Given the description of an element on the screen output the (x, y) to click on. 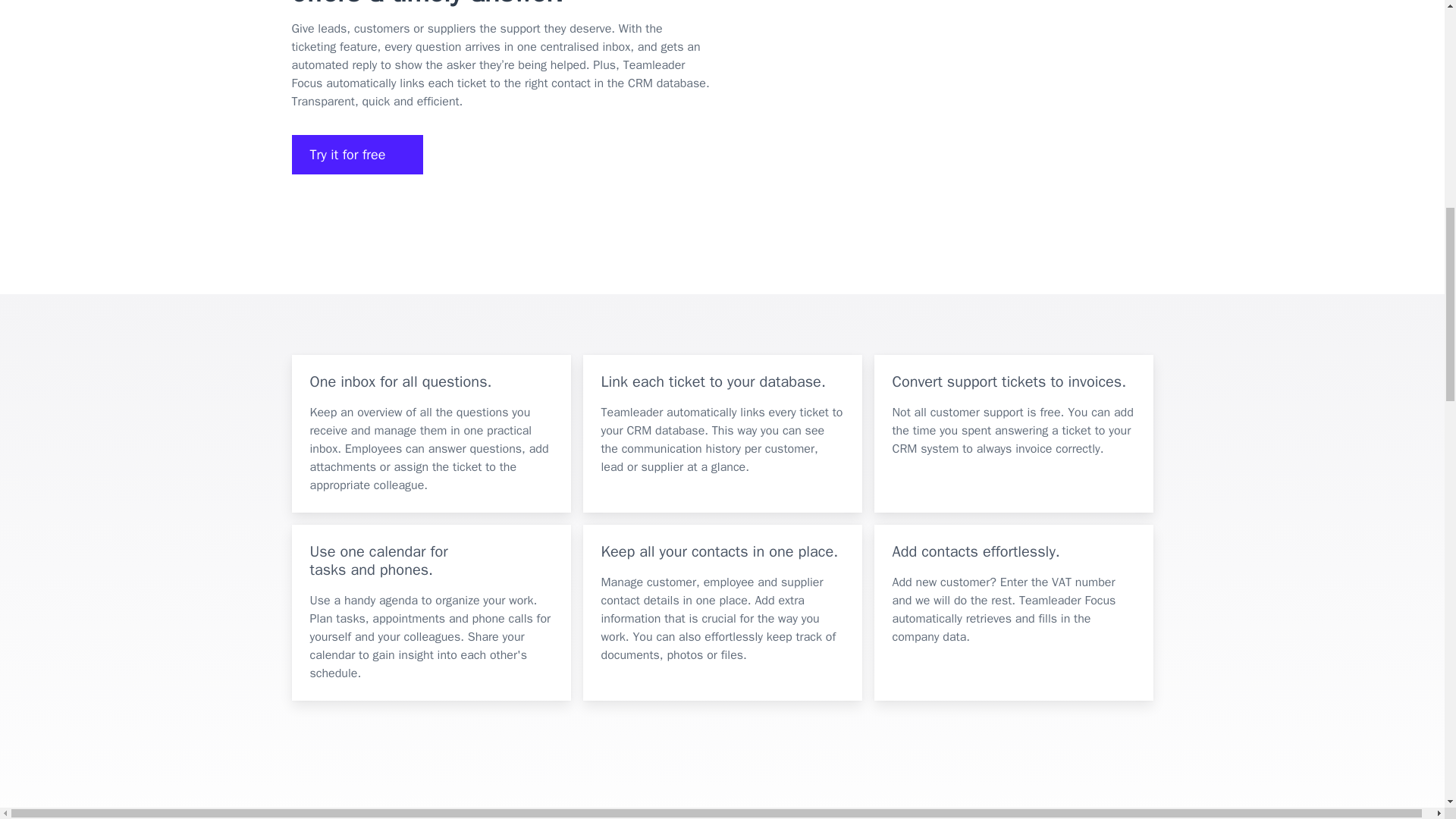
Try it for free (357, 154)
